Given the description of an element on the screen output the (x, y) to click on. 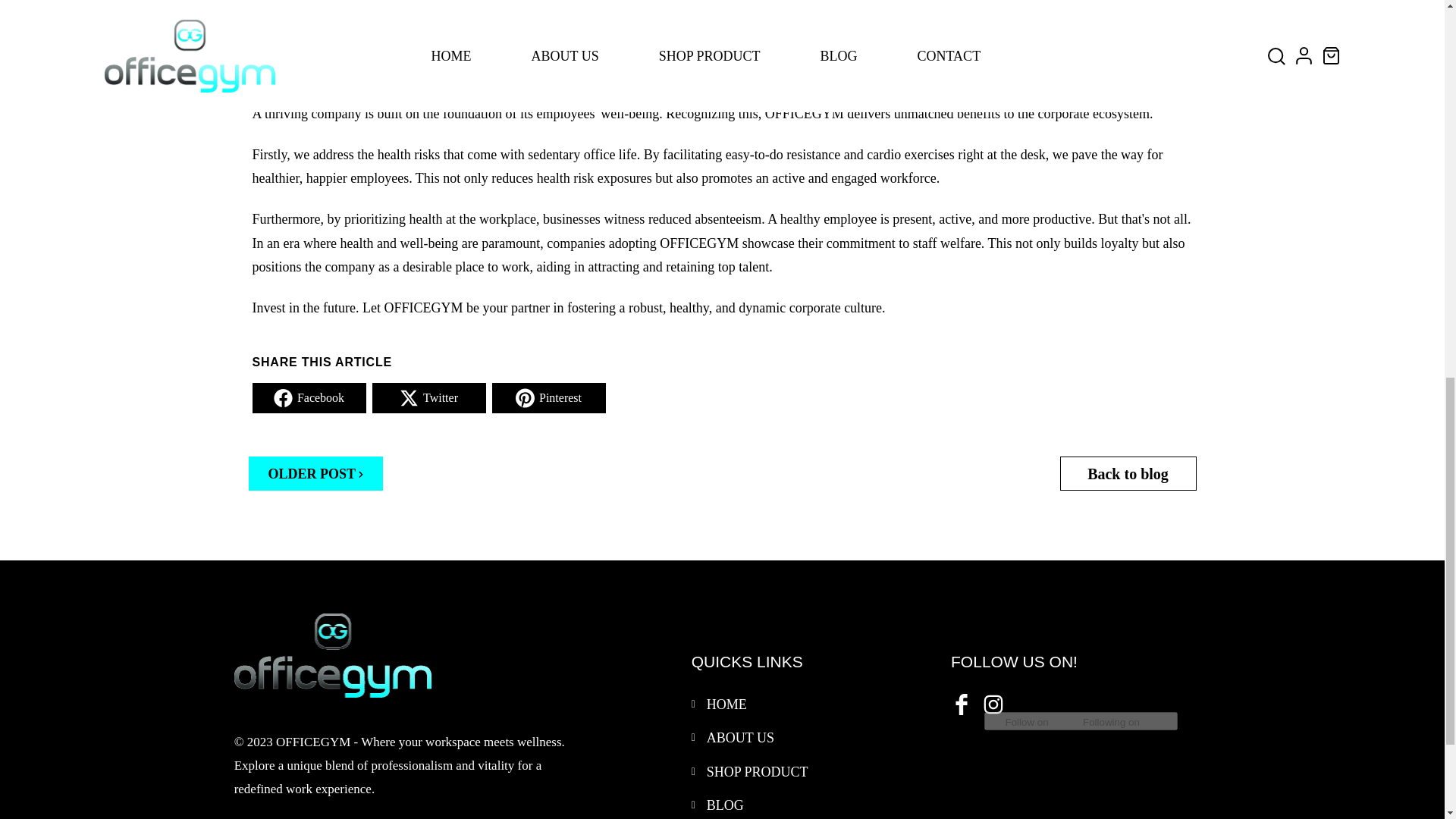
BLOG (725, 805)
OLDER POST (316, 473)
Back to blog (1127, 473)
ABOUT US (740, 737)
Facebook - My Store (959, 702)
Twitter (427, 398)
HOME (726, 703)
SHOP PRODUCT (757, 771)
Instagram - My Store (991, 702)
Pinterest (548, 398)
